Given the description of an element on the screen output the (x, y) to click on. 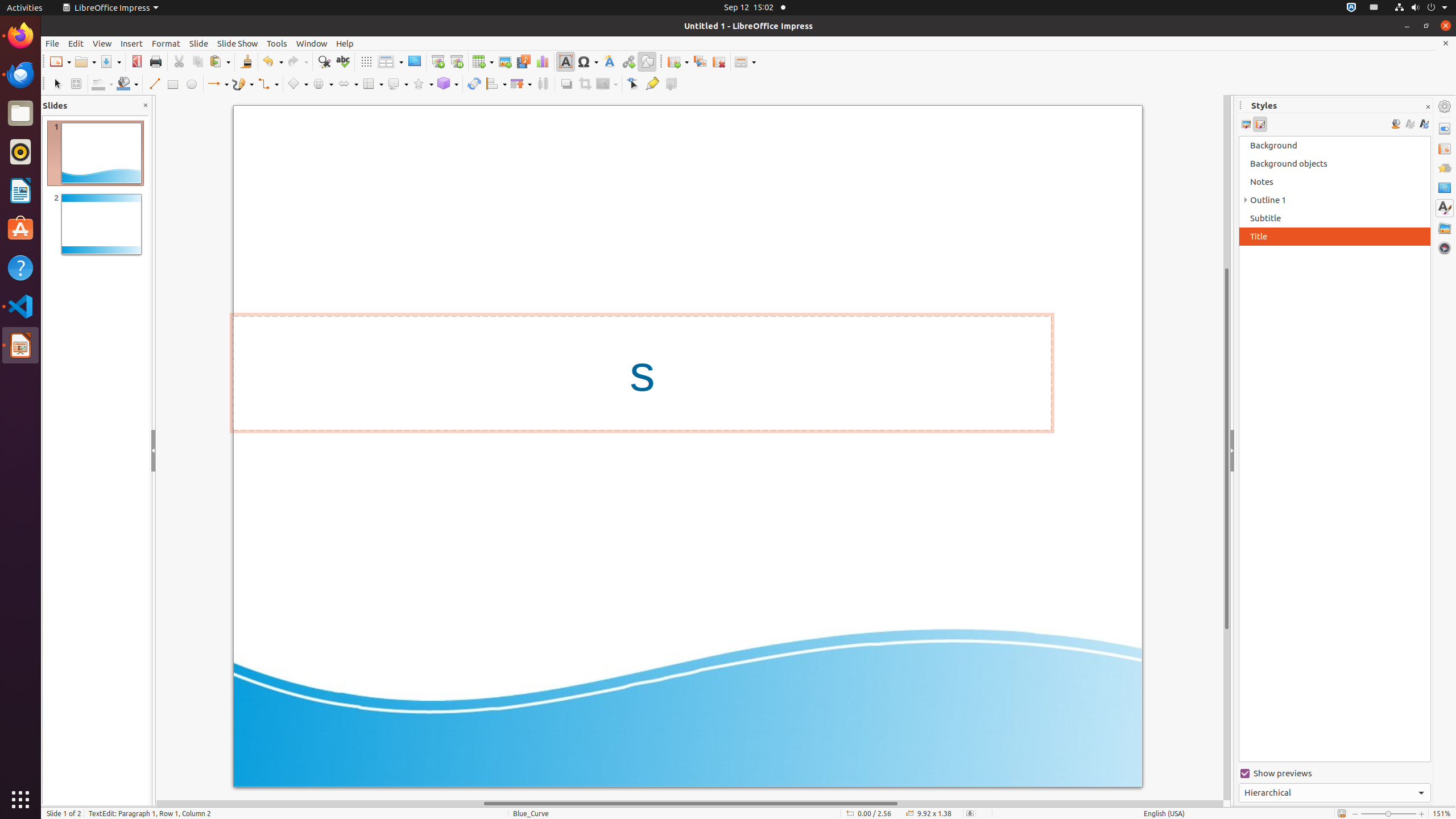
Cut Element type: push-button (178, 61)
PDF Element type: push-button (136, 61)
Edit Element type: menu (75, 43)
Print Element type: push-button (155, 61)
